Given the description of an element on the screen output the (x, y) to click on. 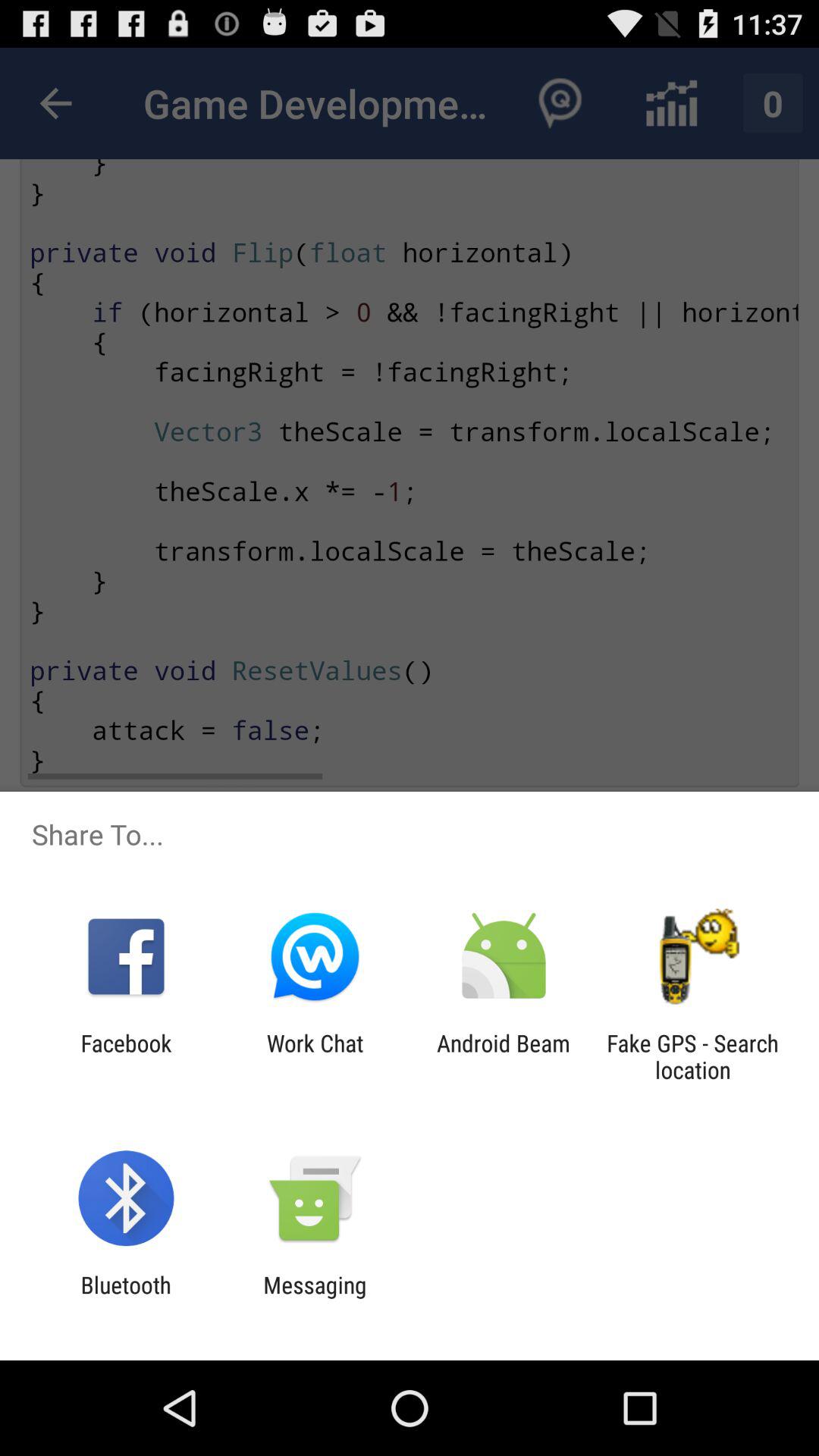
choose the fake gps search item (692, 1056)
